Given the description of an element on the screen output the (x, y) to click on. 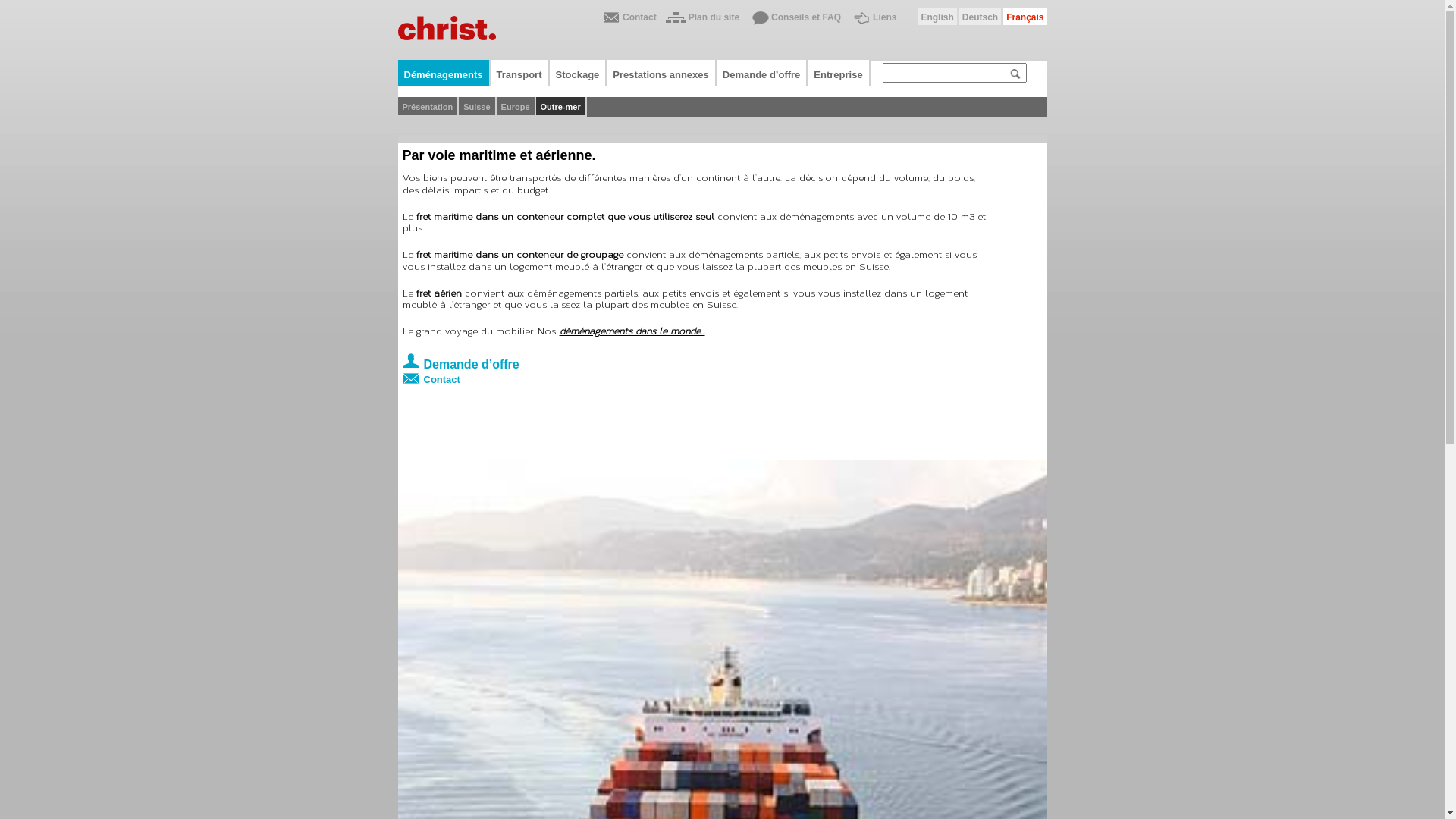
Outre-mer Element type: text (561, 106)
Deutsch Element type: text (980, 16)
Prestations annexes Element type: text (660, 72)
Plan du site Element type: text (702, 19)
Conseils et FAQ Element type: text (794, 19)
Contact Element type: text (627, 19)
Transport Element type: text (519, 72)
Suisse Element type: text (476, 106)
English Element type: text (936, 16)
Contact Element type: text (693, 376)
Entreprise Element type: text (838, 72)
Europe Element type: text (516, 106)
Liens Element type: text (873, 19)
Stockage Element type: text (578, 72)
